Given the description of an element on the screen output the (x, y) to click on. 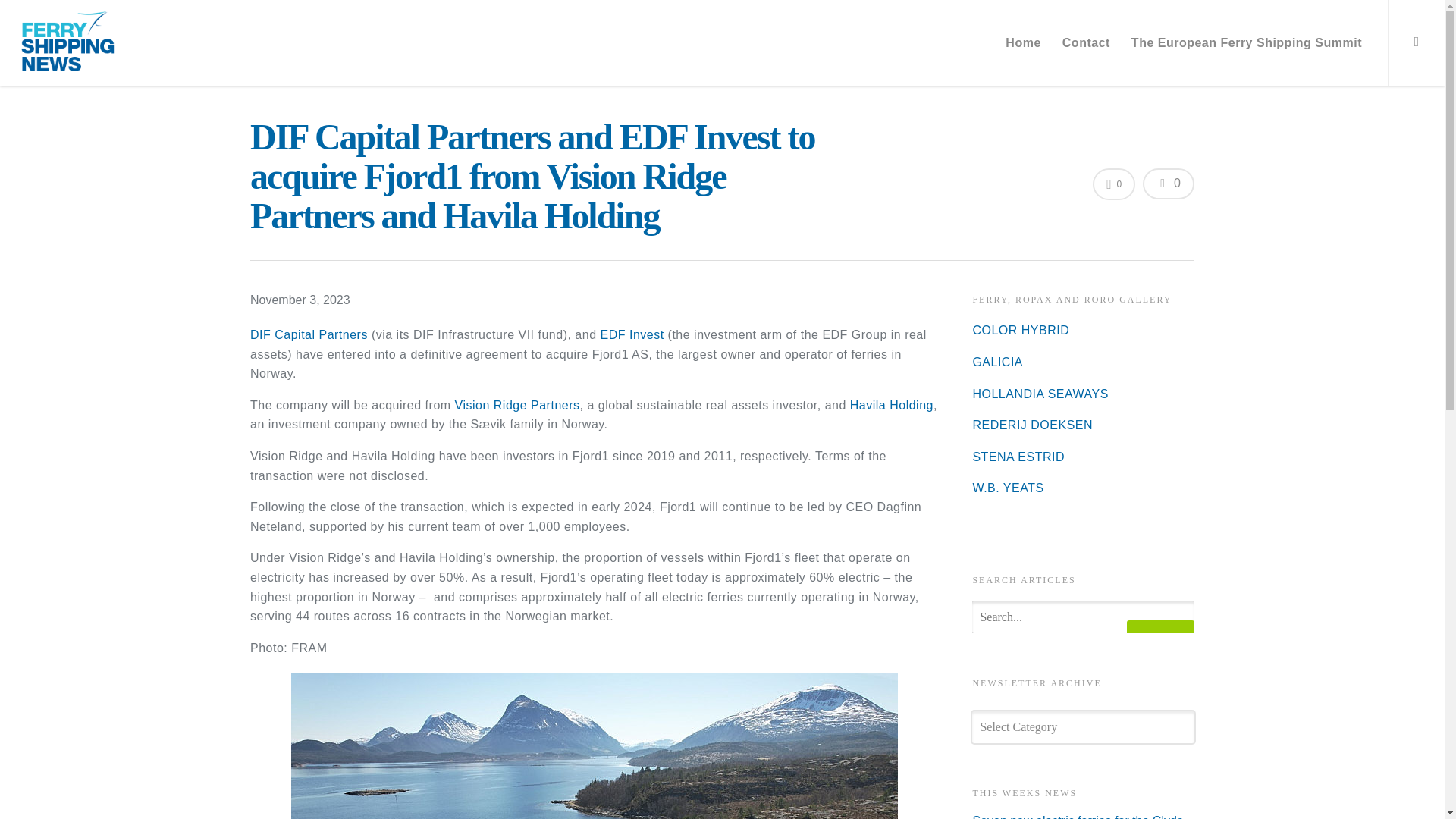
GALICIA (997, 361)
W.B. YEATS (1007, 487)
The European Ferry Shipping Summit (1246, 48)
Love this (1114, 183)
Seven new electric ferries for the Clyde and Hebrides (1082, 816)
Search (1159, 642)
0 (1167, 183)
DIF Capital Partners (309, 335)
EDF Invest (631, 335)
Search (1159, 642)
HOLLANDIA SEAWAYS (1040, 393)
REDERIJ DOEKSEN (1032, 424)
Seven new electric ferries for the Clyde and Hebrides (1082, 816)
0 (1114, 183)
Search (1159, 642)
